Given the description of an element on the screen output the (x, y) to click on. 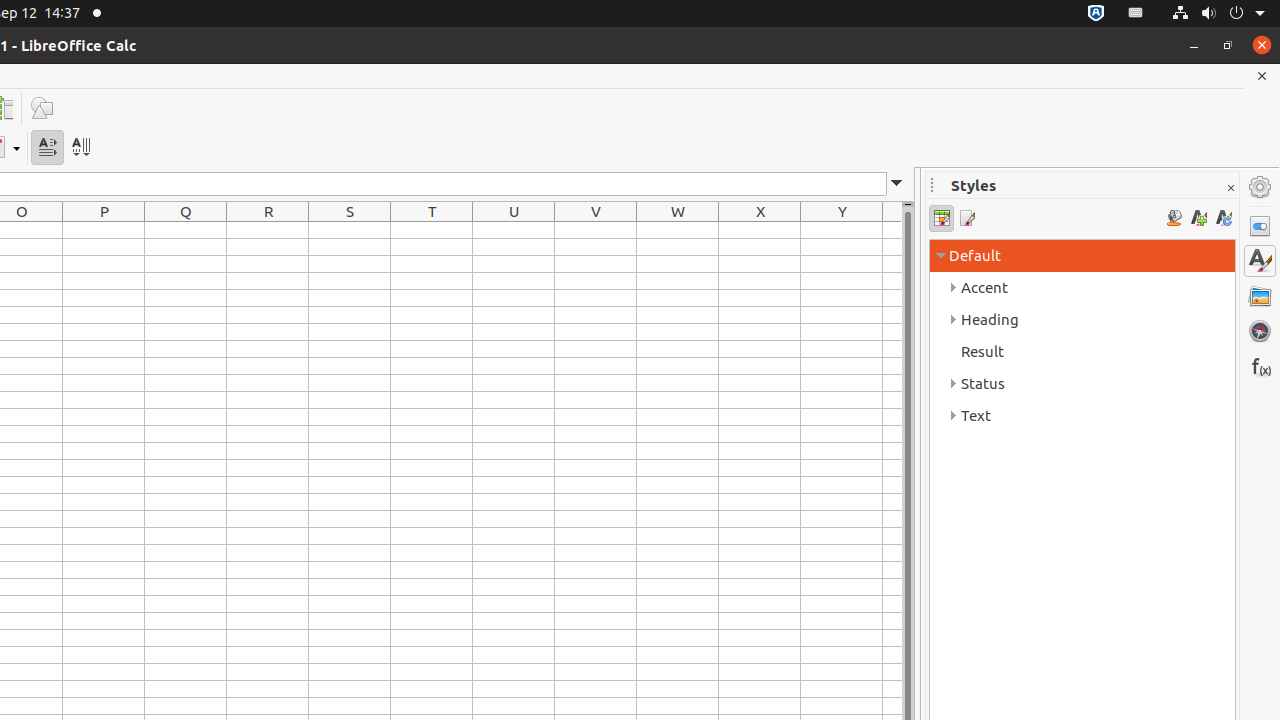
Y1 Element type: table-cell (842, 230)
S1 Element type: table-cell (350, 230)
System Element type: menu (1218, 13)
R1 Element type: table-cell (268, 230)
Functions Element type: radio-button (1260, 366)
